Given the description of an element on the screen output the (x, y) to click on. 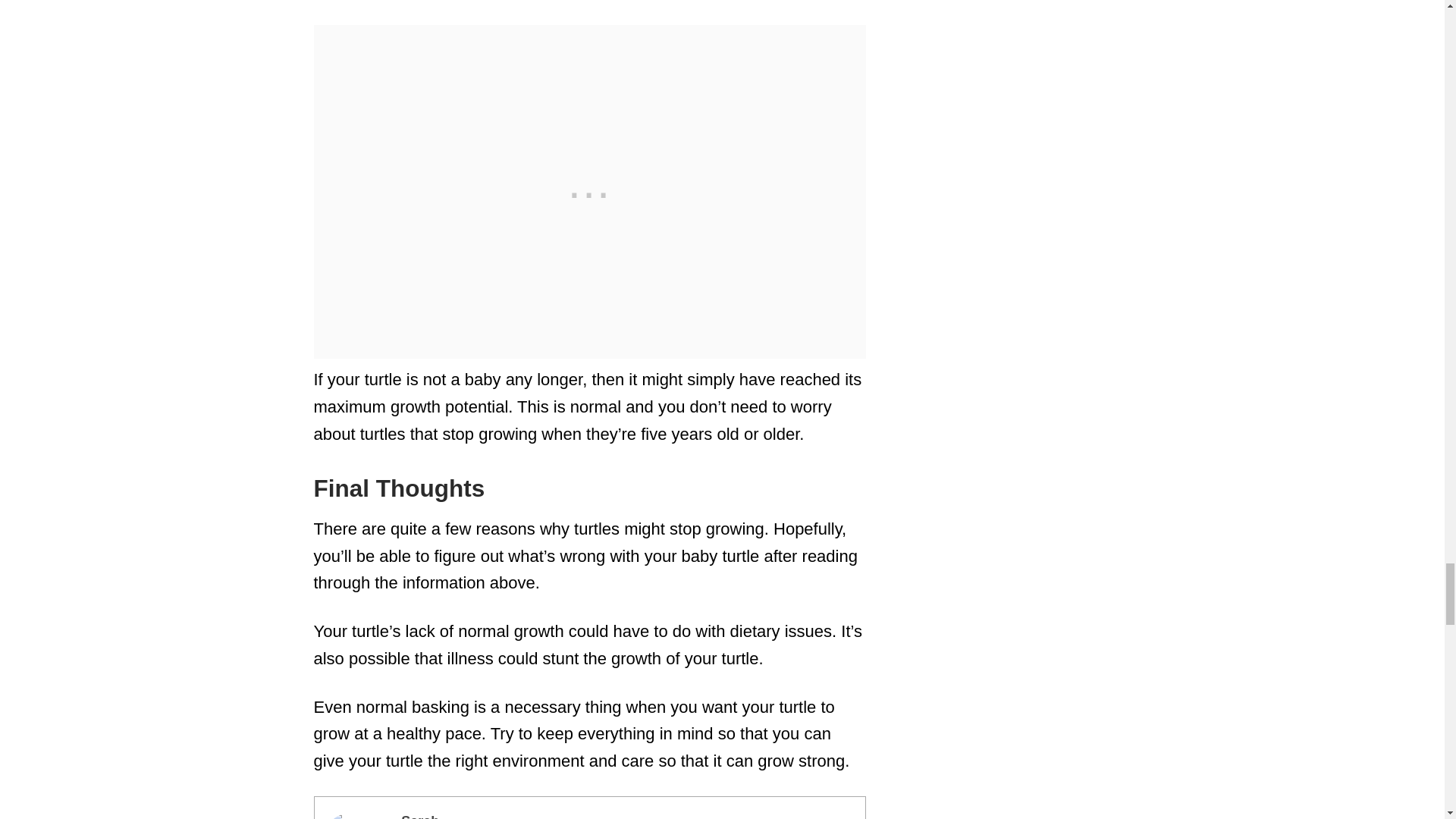
Sarah (420, 816)
